Given the description of an element on the screen output the (x, y) to click on. 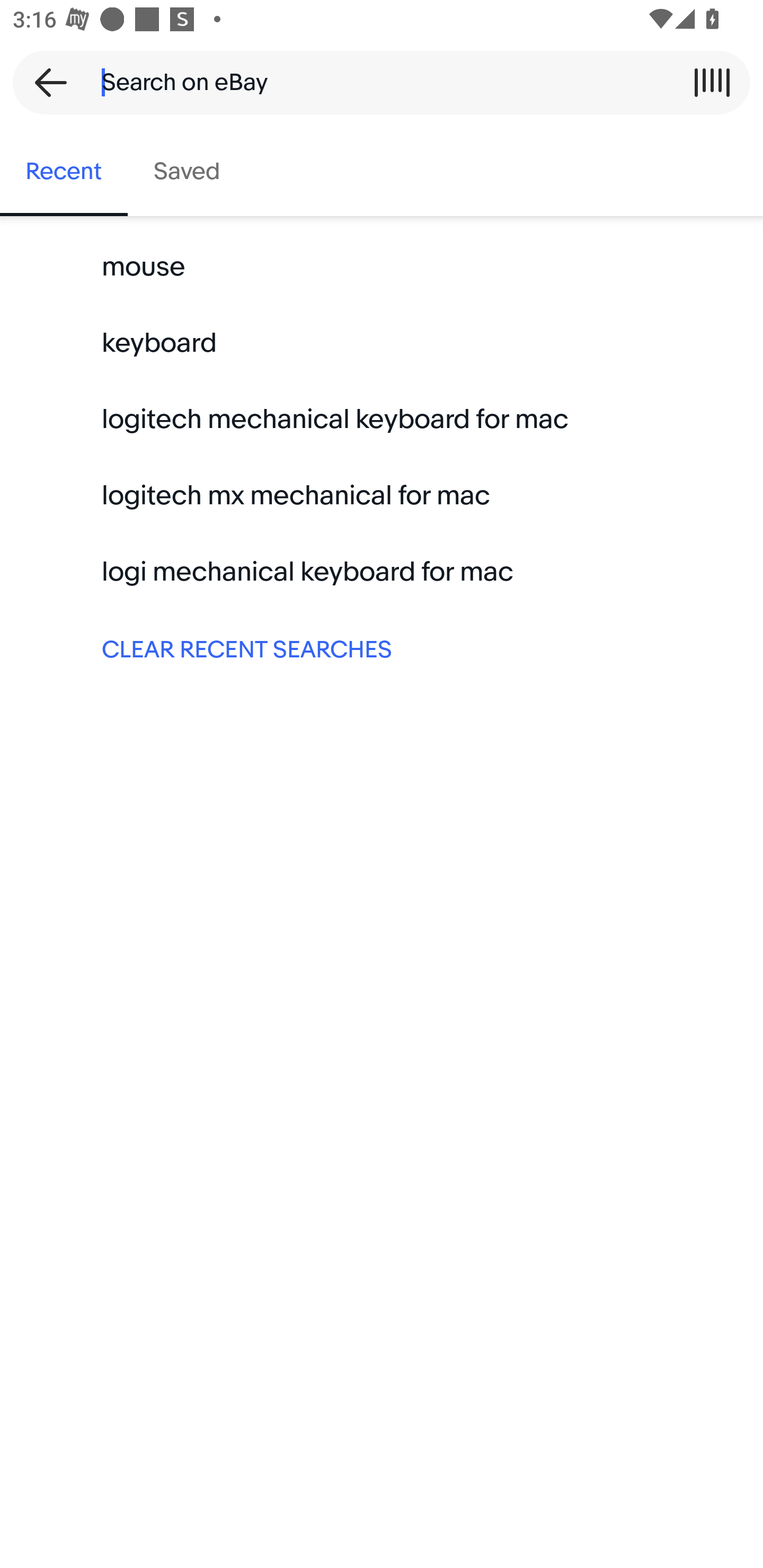
Back (44, 82)
Scan a barcode (711, 82)
Search on eBay (375, 82)
Saved, tab 2 of 2 Saved (186, 171)
mouse Keyword search mouse: (381, 266)
keyboard Keyword search keyboard: (381, 343)
CLEAR RECENT SEARCHES (381, 647)
